Given the description of an element on the screen output the (x, y) to click on. 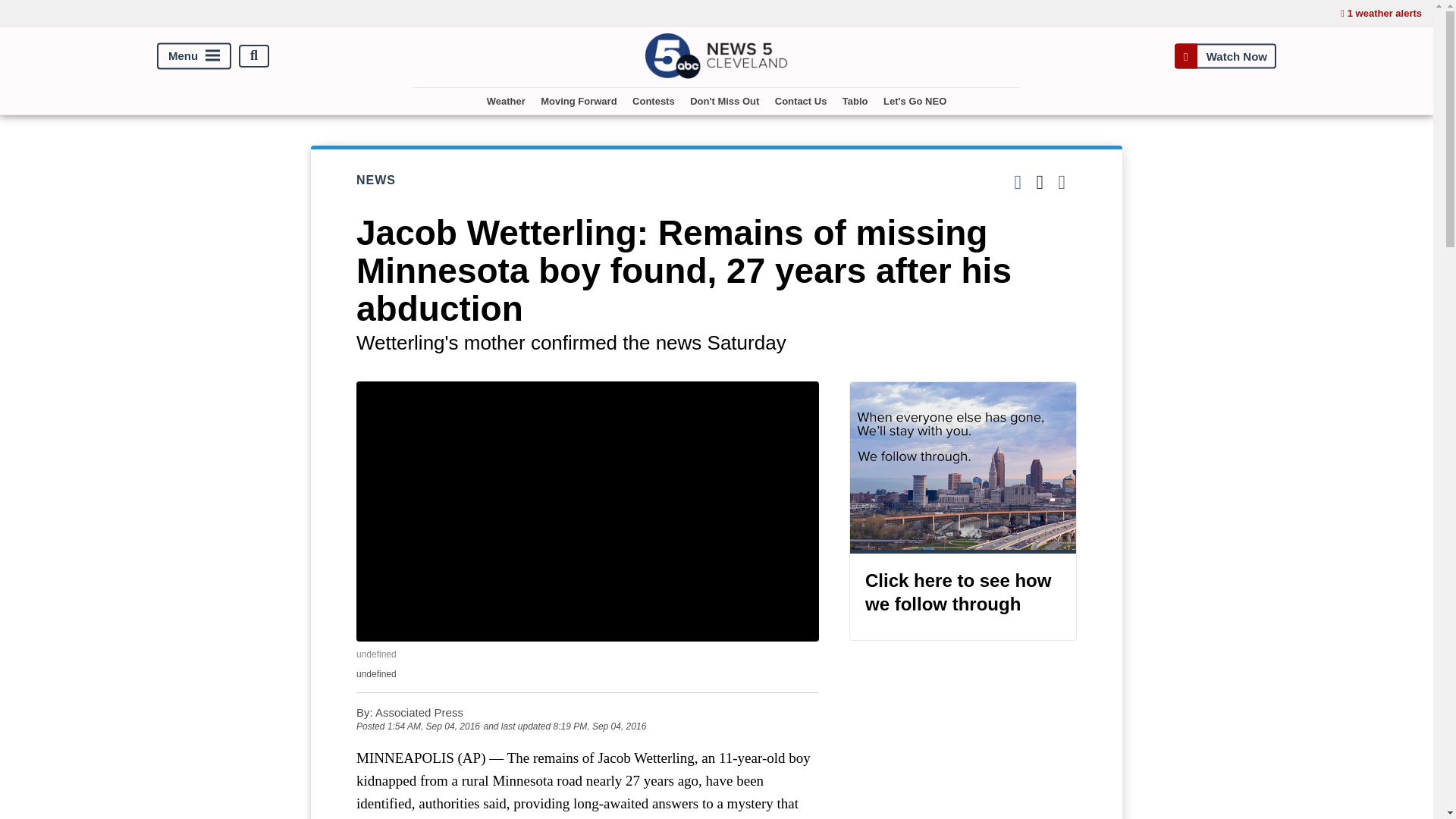
Watch Now (1224, 55)
Menu (194, 55)
